Given the description of an element on the screen output the (x, y) to click on. 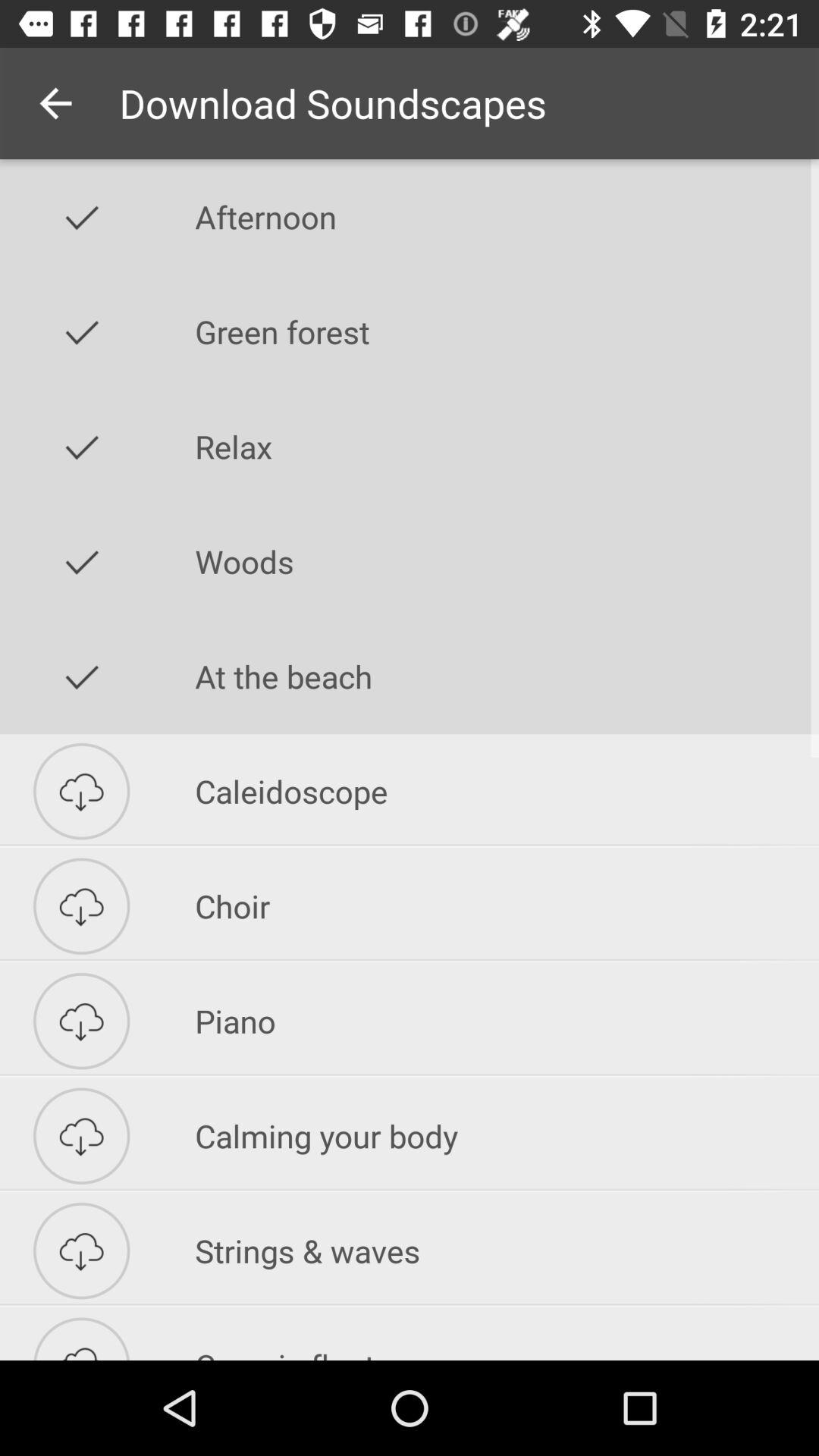
click the item above caleidoscope item (507, 676)
